Given the description of an element on the screen output the (x, y) to click on. 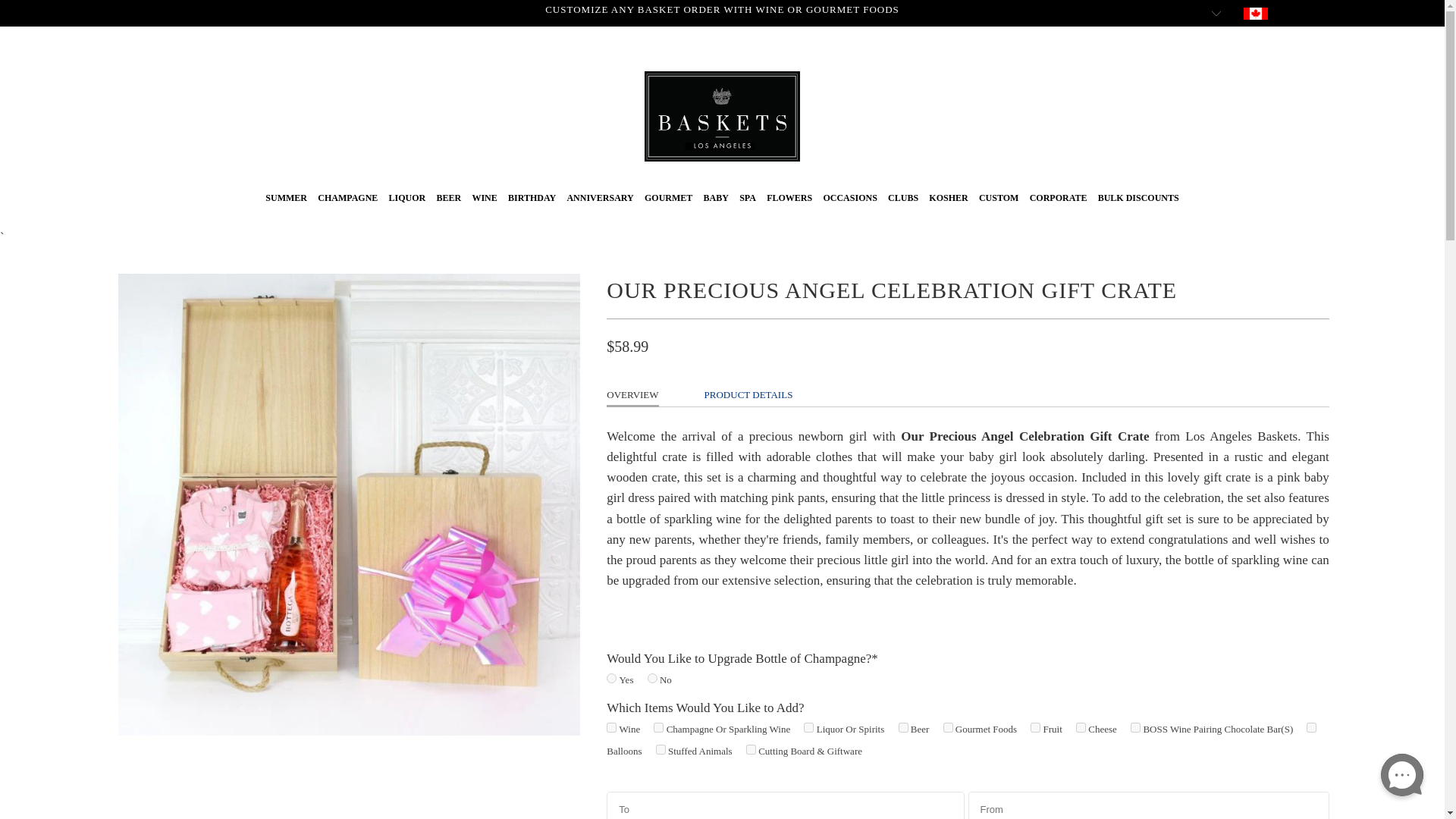
Cheese (1080, 727)
Wine (611, 727)
Stuffed Animals (660, 749)
Gourmet Foods (948, 727)
No (652, 678)
Champagne or Sparkling Wine (658, 727)
Balloons (1311, 727)
Beer (902, 727)
Liquor or Spirits (808, 727)
Yes (611, 678)
Fruit (1035, 727)
